Given the description of an element on the screen output the (x, y) to click on. 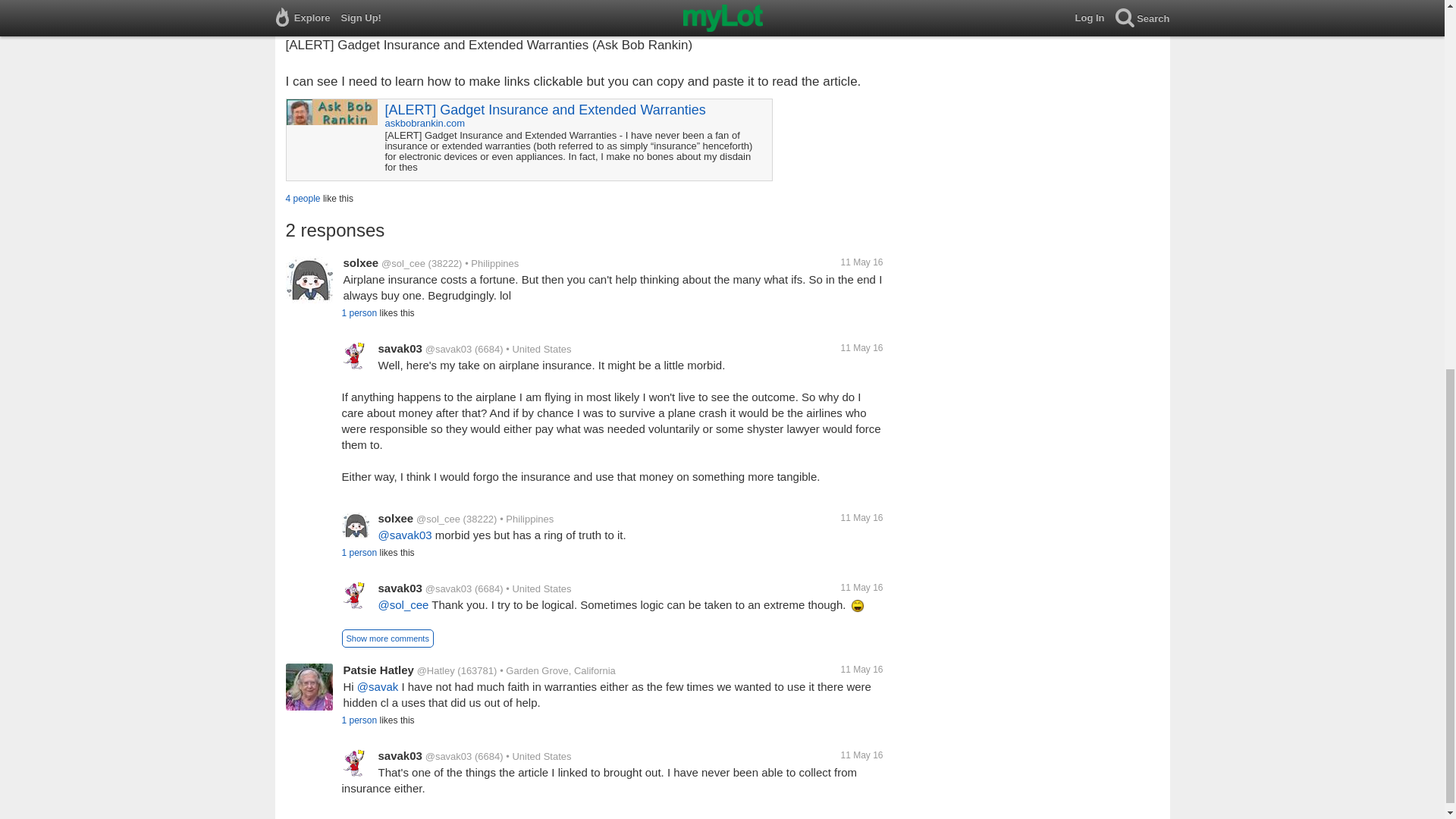
solxee (360, 262)
4 people (302, 198)
savak03 (399, 348)
1 person (358, 312)
askbobrankin.com (425, 122)
